Given the description of an element on the screen output the (x, y) to click on. 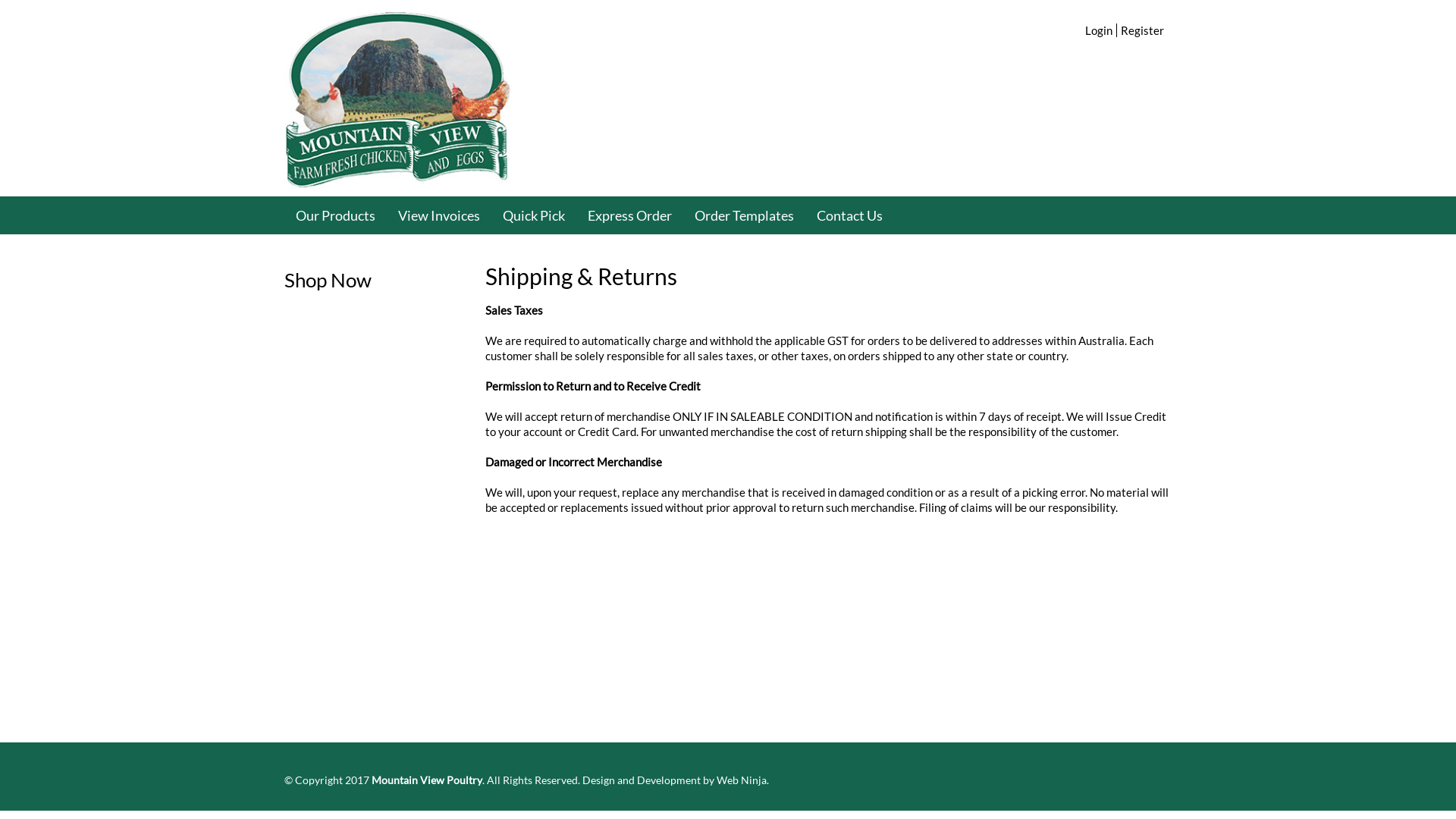
Quick Pick Element type: text (533, 215)
Register Element type: text (1142, 30)
View Invoices Element type: text (438, 215)
Order Templates Element type: text (744, 215)
Express Order Element type: text (629, 215)
Web Ninja. Element type: text (742, 780)
Our Products Element type: text (335, 215)
Login Element type: text (1098, 30)
Contact Us Element type: text (849, 215)
